Given the description of an element on the screen output the (x, y) to click on. 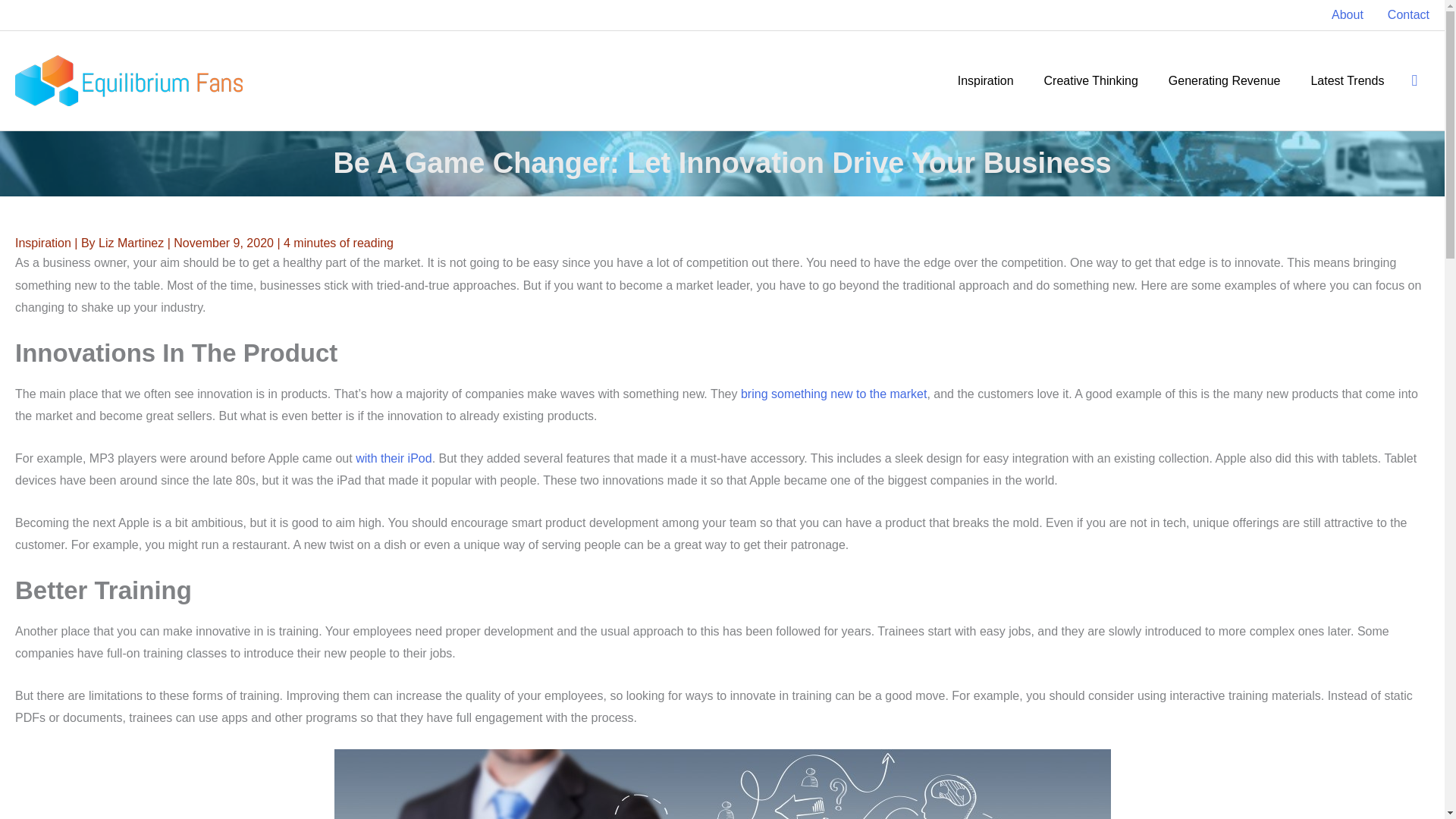
Contact (1402, 15)
Latest Trends (1347, 80)
Generating Revenue (1224, 80)
Liz Martinez (133, 242)
Inspiration (985, 80)
with their iPod (393, 458)
About (1347, 15)
View all posts by Liz Martinez (133, 242)
Creative Thinking (1091, 80)
bring something new to the market (833, 393)
